Given the description of an element on the screen output the (x, y) to click on. 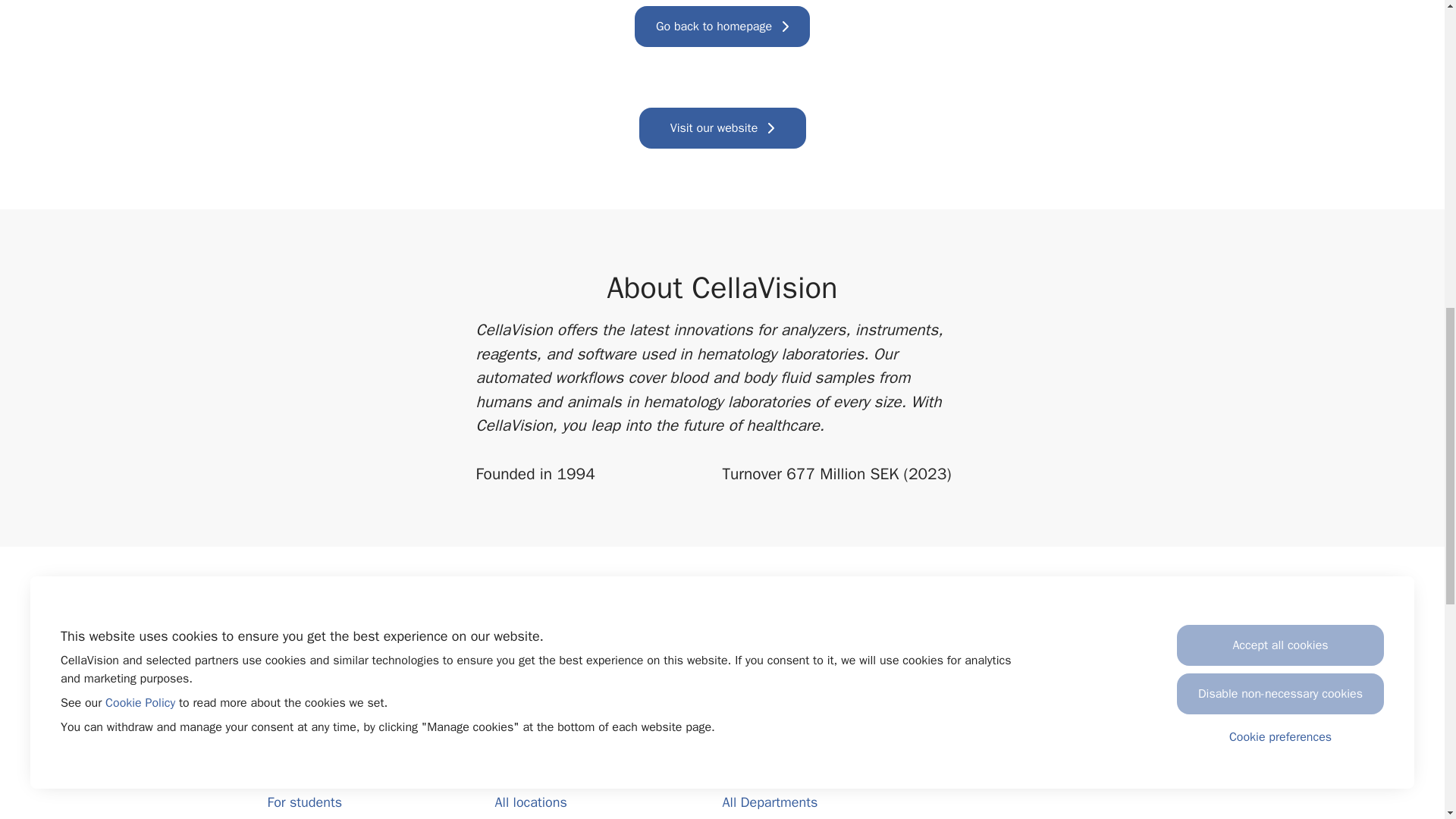
Quality (741, 649)
CellaVision South Korea (566, 751)
Organization (303, 674)
CellaVision DACH (546, 649)
CellaVision MEA (543, 775)
All Departments (769, 802)
CellaVision Inc. (540, 674)
Our people (298, 725)
CellaVision Australia (555, 699)
Locations (295, 775)
